Given the description of an element on the screen output the (x, y) to click on. 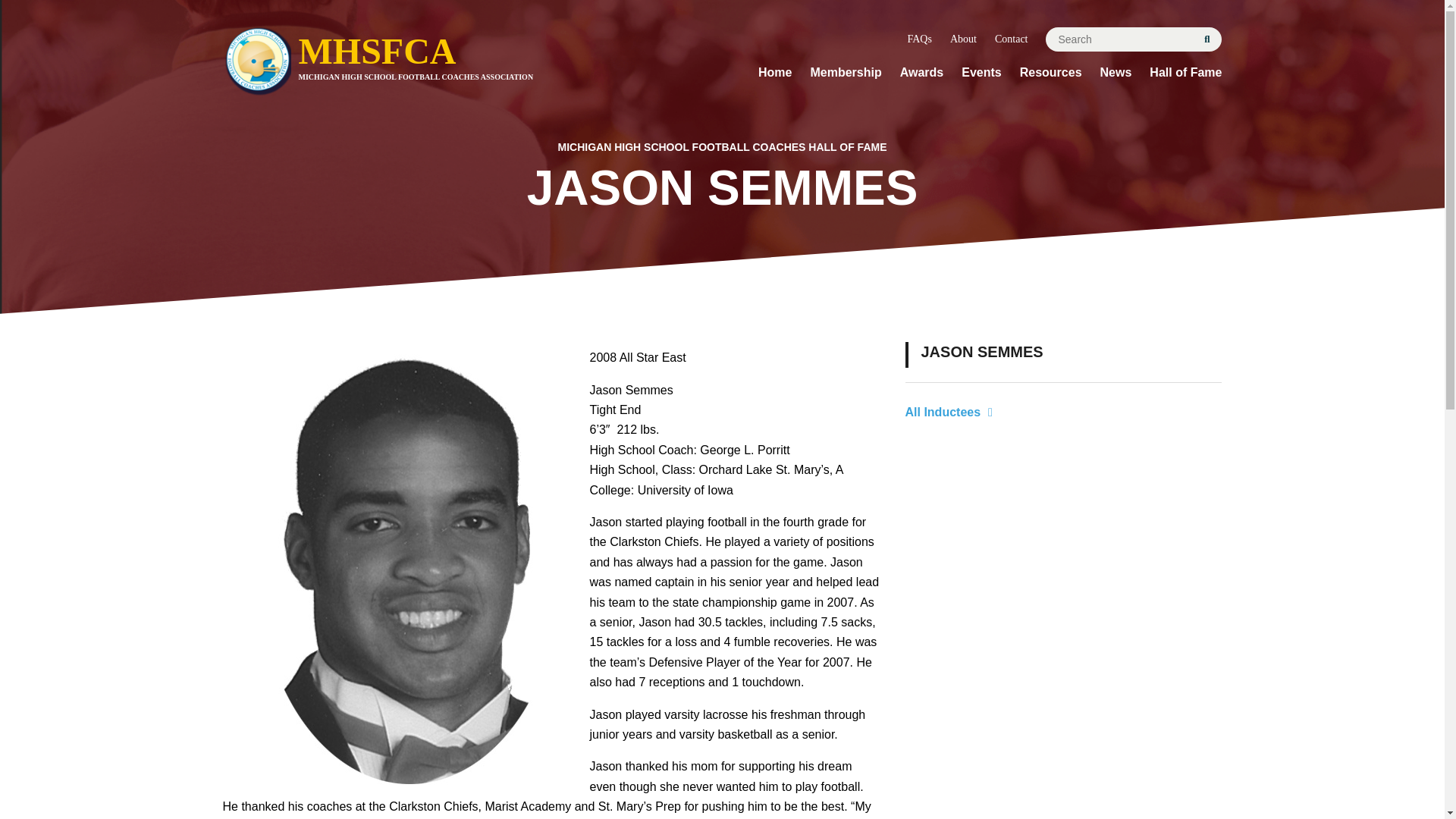
Home (775, 72)
Contact (1010, 38)
Awards (921, 72)
News (1116, 72)
Hall of Fame (1185, 72)
Events (980, 72)
Membership (424, 64)
FAQs (844, 72)
Resources (919, 38)
About (1050, 72)
